Given the description of an element on the screen output the (x, y) to click on. 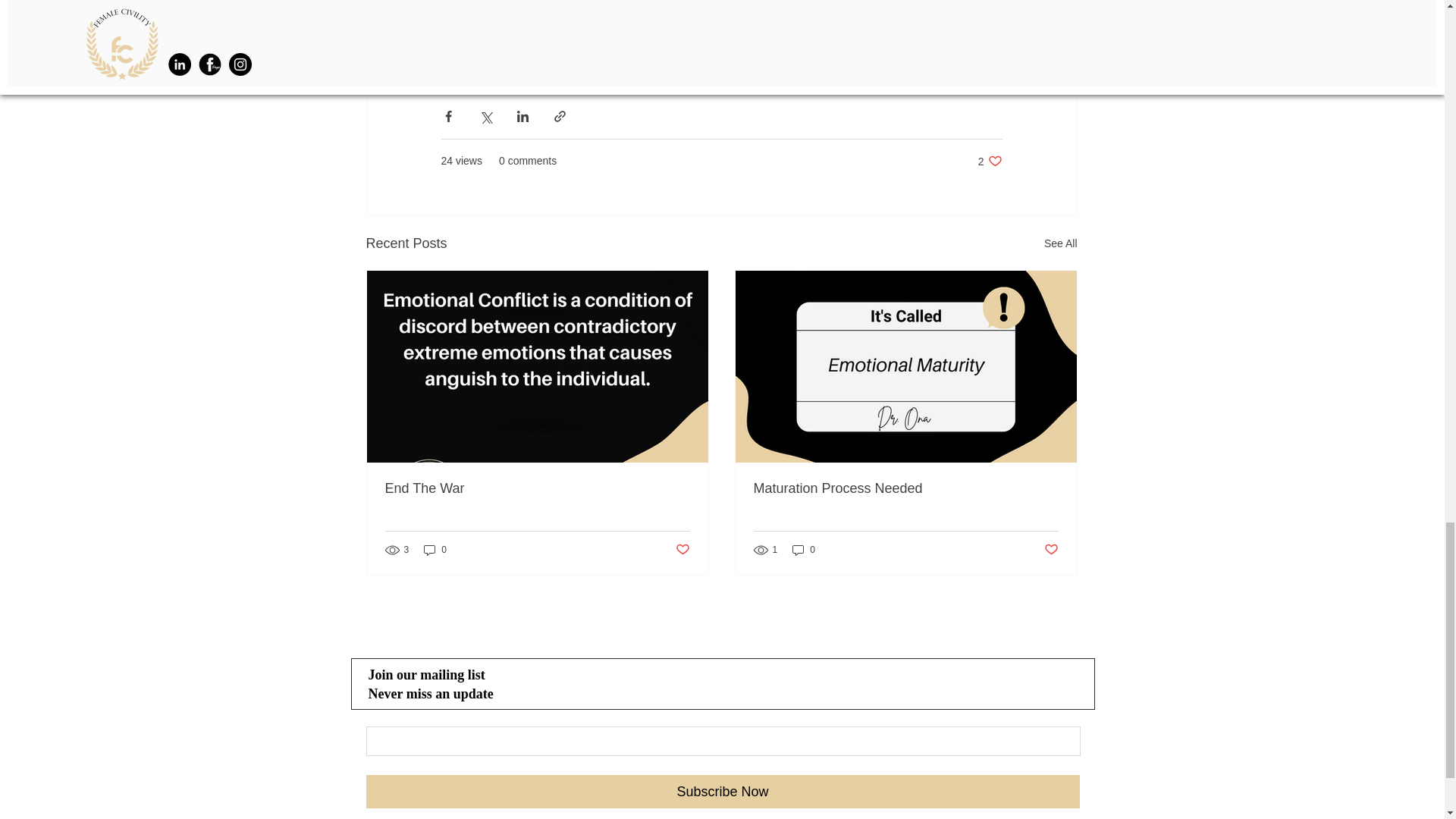
Post not marked as liked (990, 160)
0 (1050, 549)
0 (803, 549)
Post not marked as liked (435, 549)
End The War (681, 549)
See All (537, 488)
Maturation Process Needed (1060, 243)
